Given the description of an element on the screen output the (x, y) to click on. 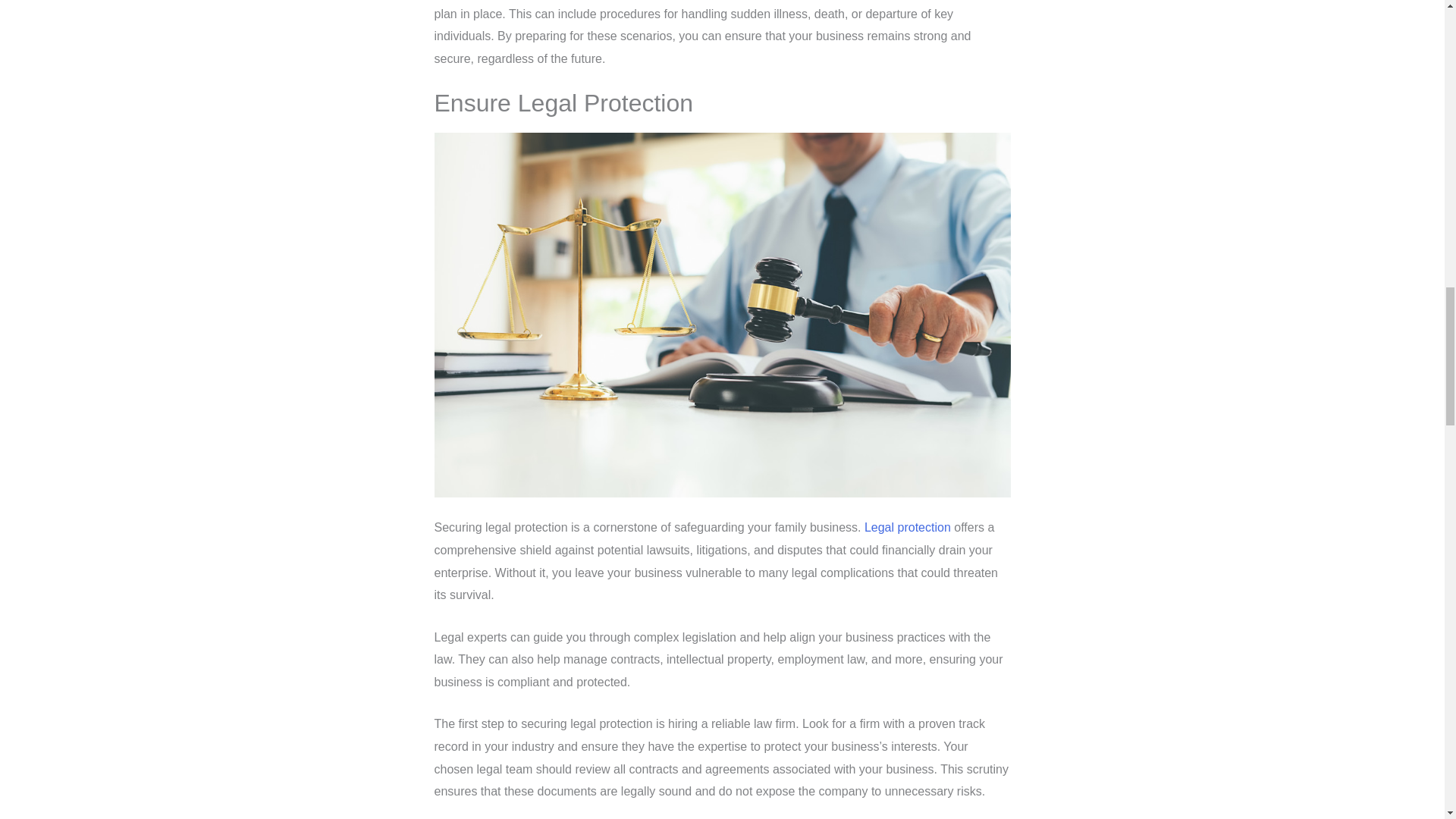
Legal protection (907, 526)
